Given the description of an element on the screen output the (x, y) to click on. 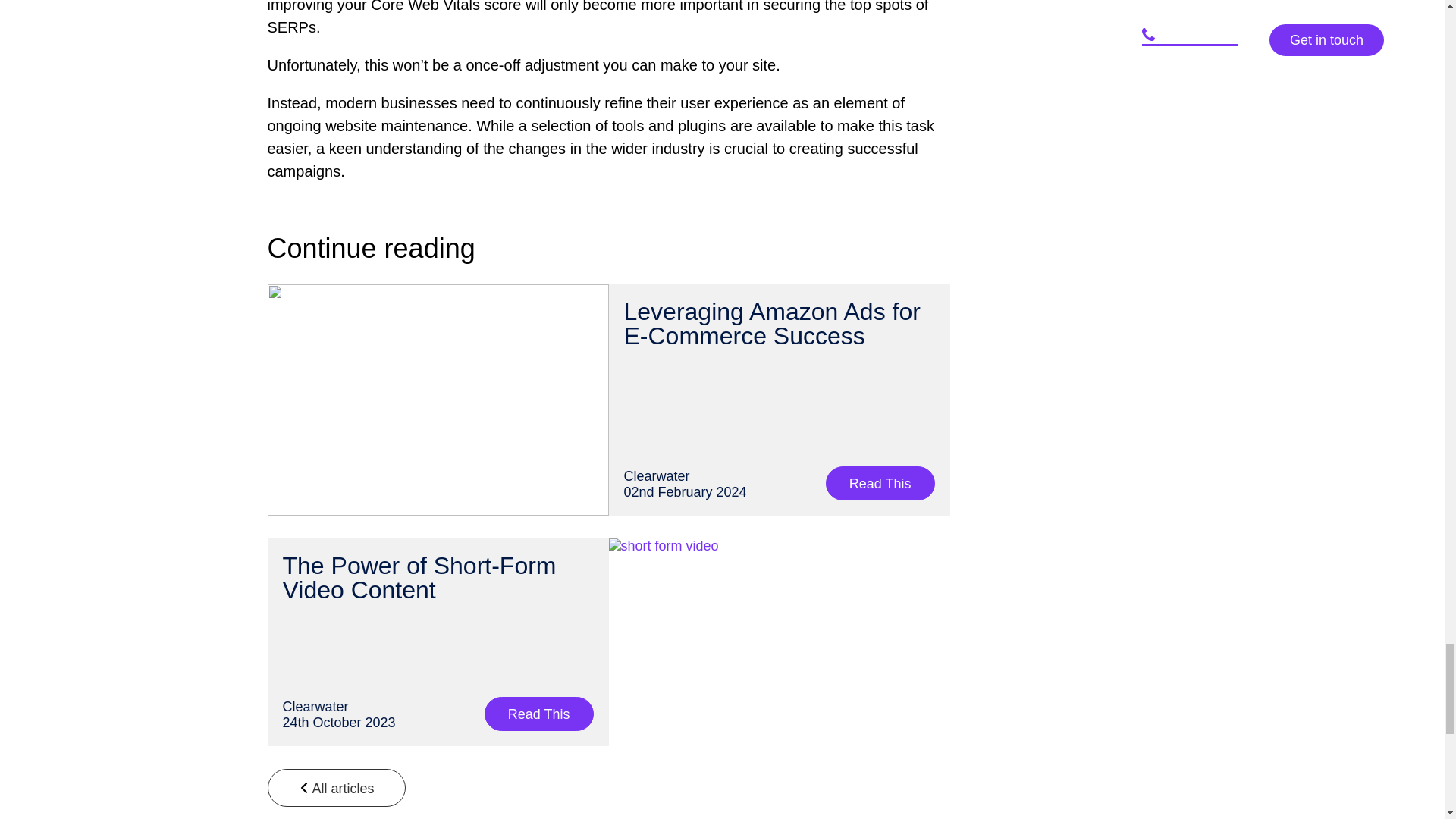
The Power of Short-Form Video Content (419, 577)
All articles (335, 787)
Read This (879, 483)
Read This (539, 713)
Leveraging Amazon Ads for E-Commerce Success (771, 323)
